Given the description of an element on the screen output the (x, y) to click on. 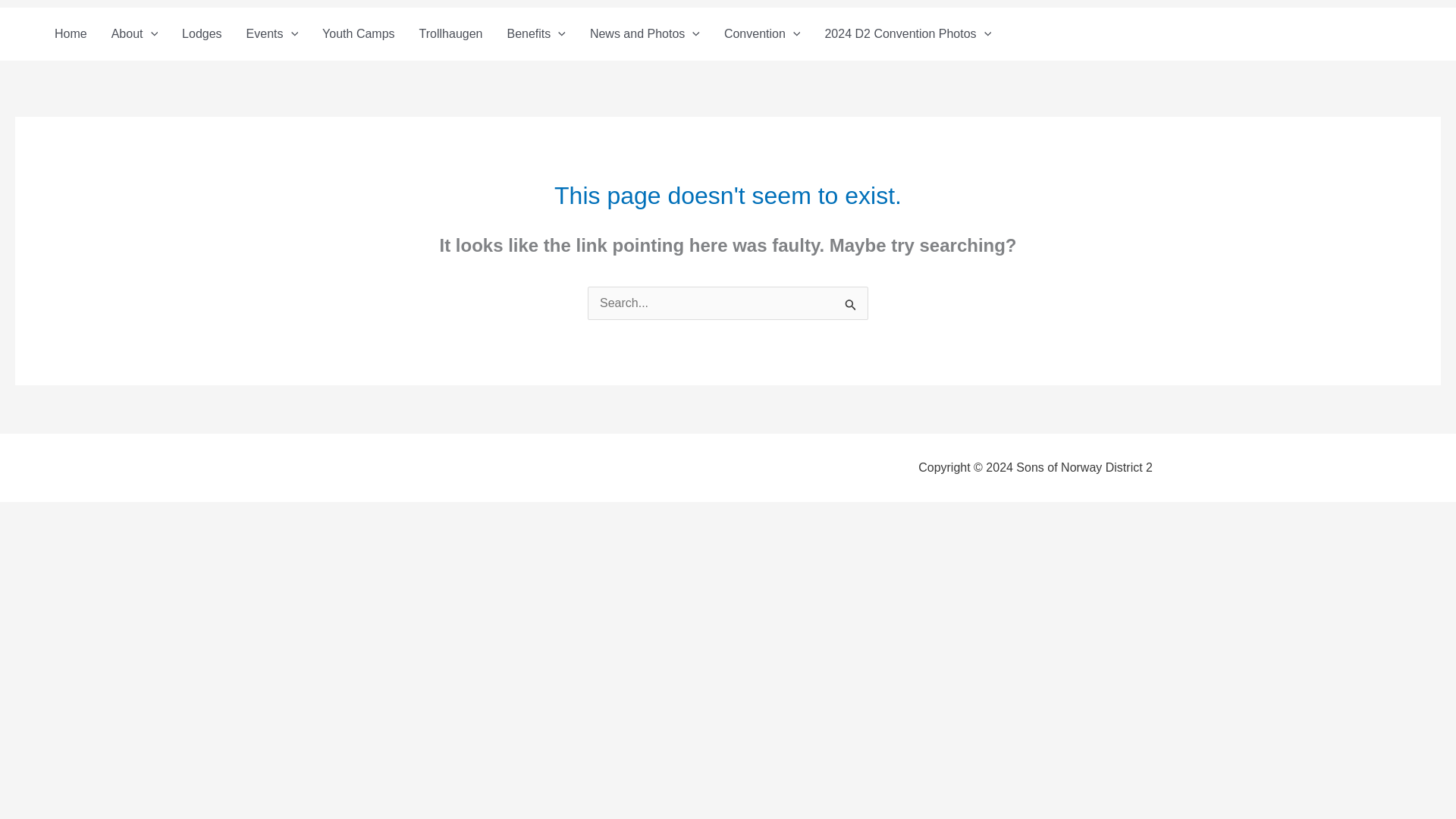
Convention (761, 33)
Trollhaugen (451, 33)
Lodges (202, 33)
News and Photos (644, 33)
Youth Camps (358, 33)
Home (70, 33)
Benefits (535, 33)
About (134, 33)
Events (272, 33)
